Given the description of an element on the screen output the (x, y) to click on. 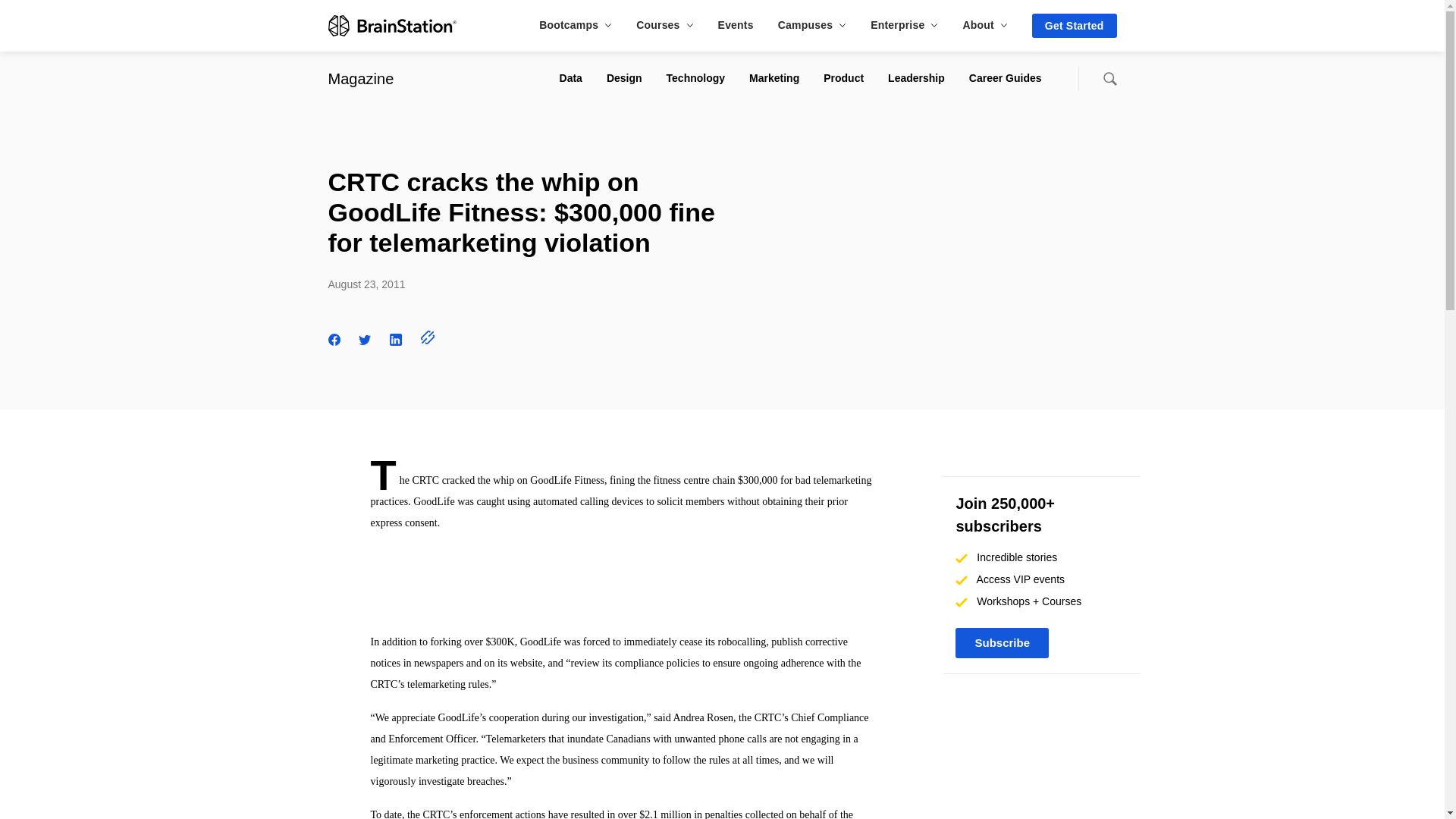
Campuses (811, 24)
Bootcamps (574, 24)
Courses (664, 24)
Search (1109, 78)
Enterprise (903, 24)
Events (735, 24)
BrainStation Magazine (360, 78)
